Given the description of an element on the screen output the (x, y) to click on. 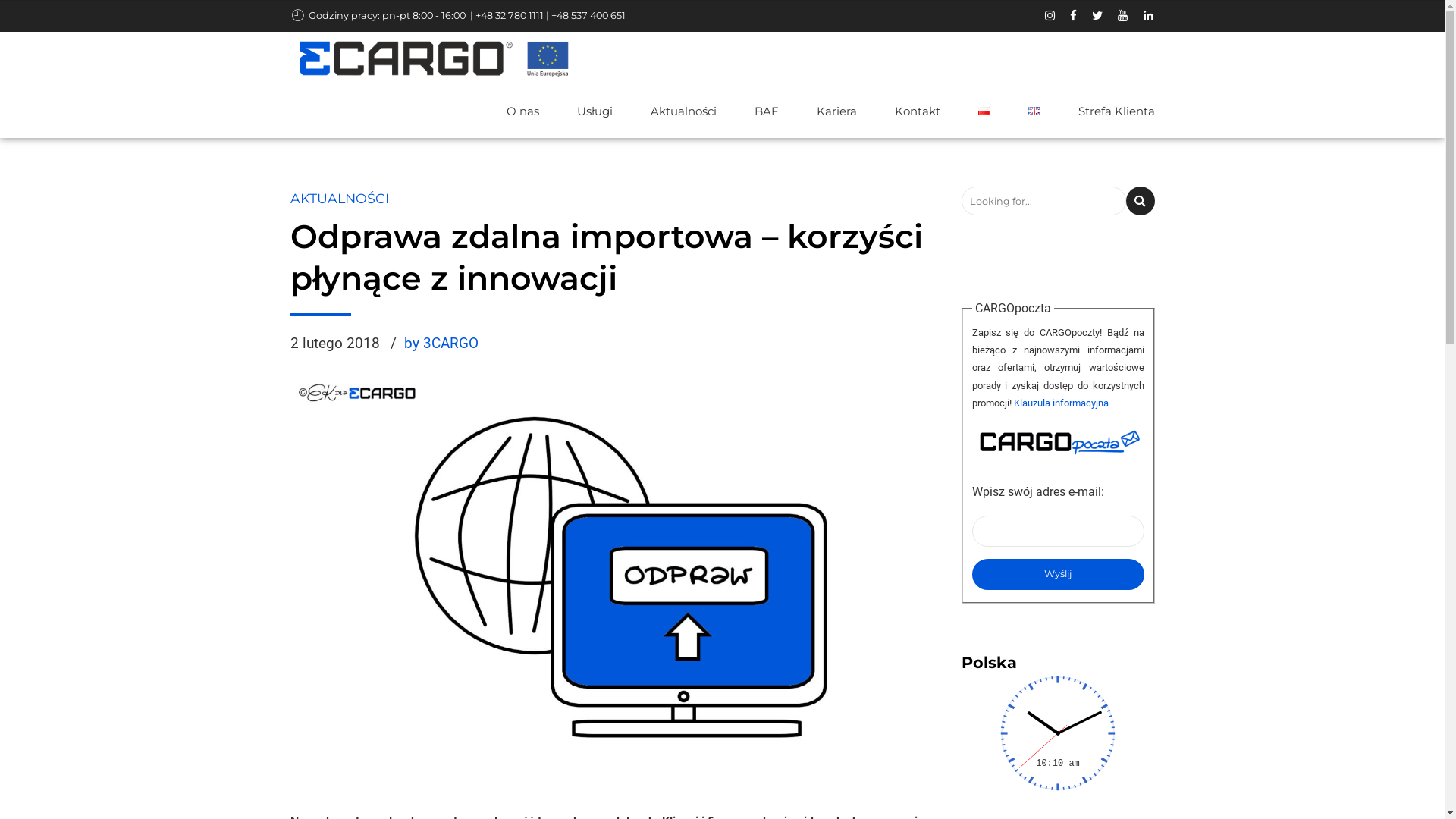
BAF Element type: text (765, 111)
Kontakt Element type: text (917, 111)
Kariera Element type: text (835, 111)
by 3CARGO Element type: text (441, 343)
Strefa Klienta Element type: text (1116, 111)
Klauzula informacyjna Element type: text (1060, 402)
O nas Element type: text (522, 111)
